Given the description of an element on the screen output the (x, y) to click on. 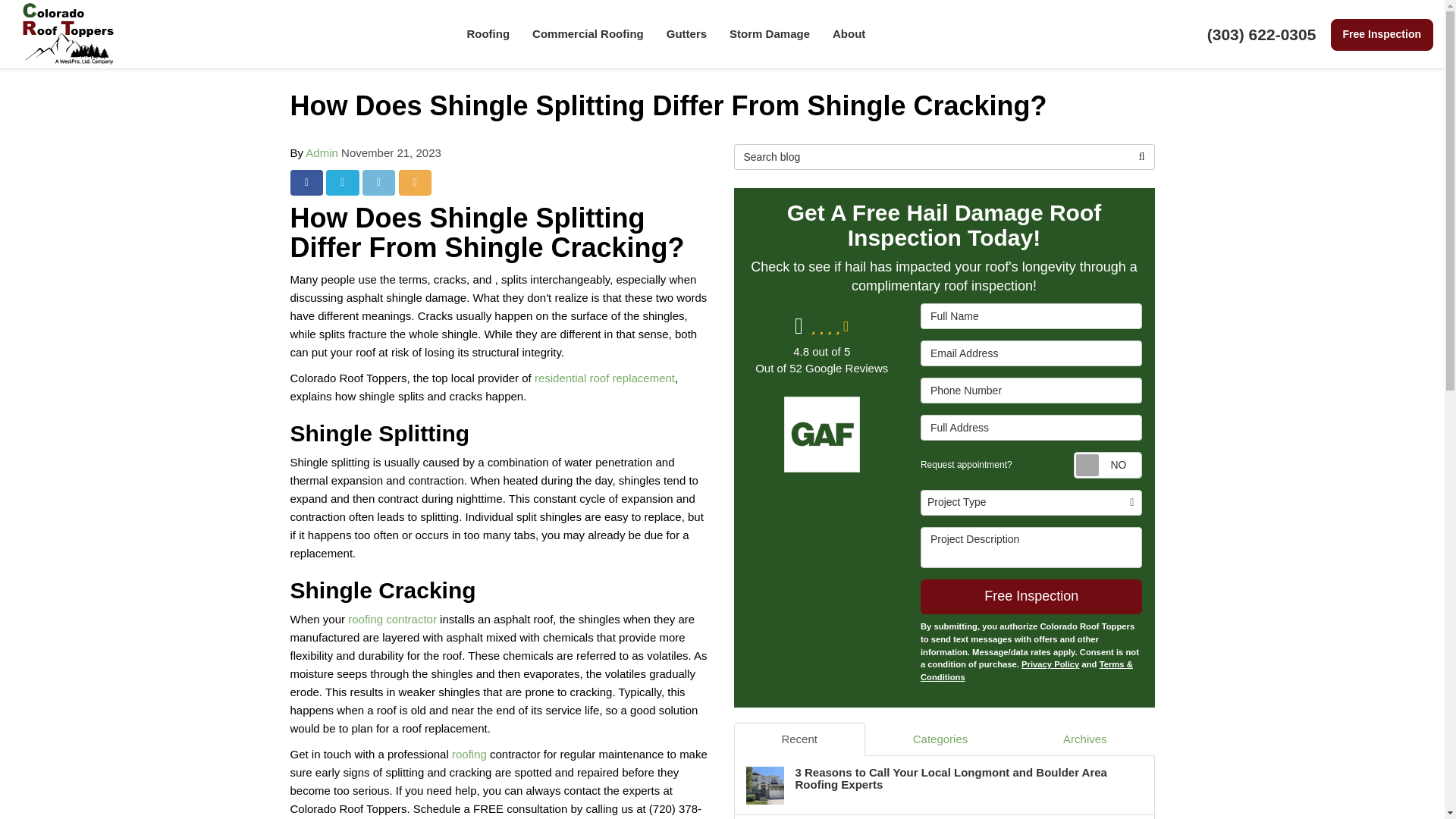
Free Inspection (1381, 34)
Admin (321, 152)
Commercial Roofing (588, 33)
Share on Facebook (306, 182)
Gutters (686, 33)
Storm Damage (769, 33)
Free Inspection (1381, 34)
Roofing (487, 33)
